Given the description of an element on the screen output the (x, y) to click on. 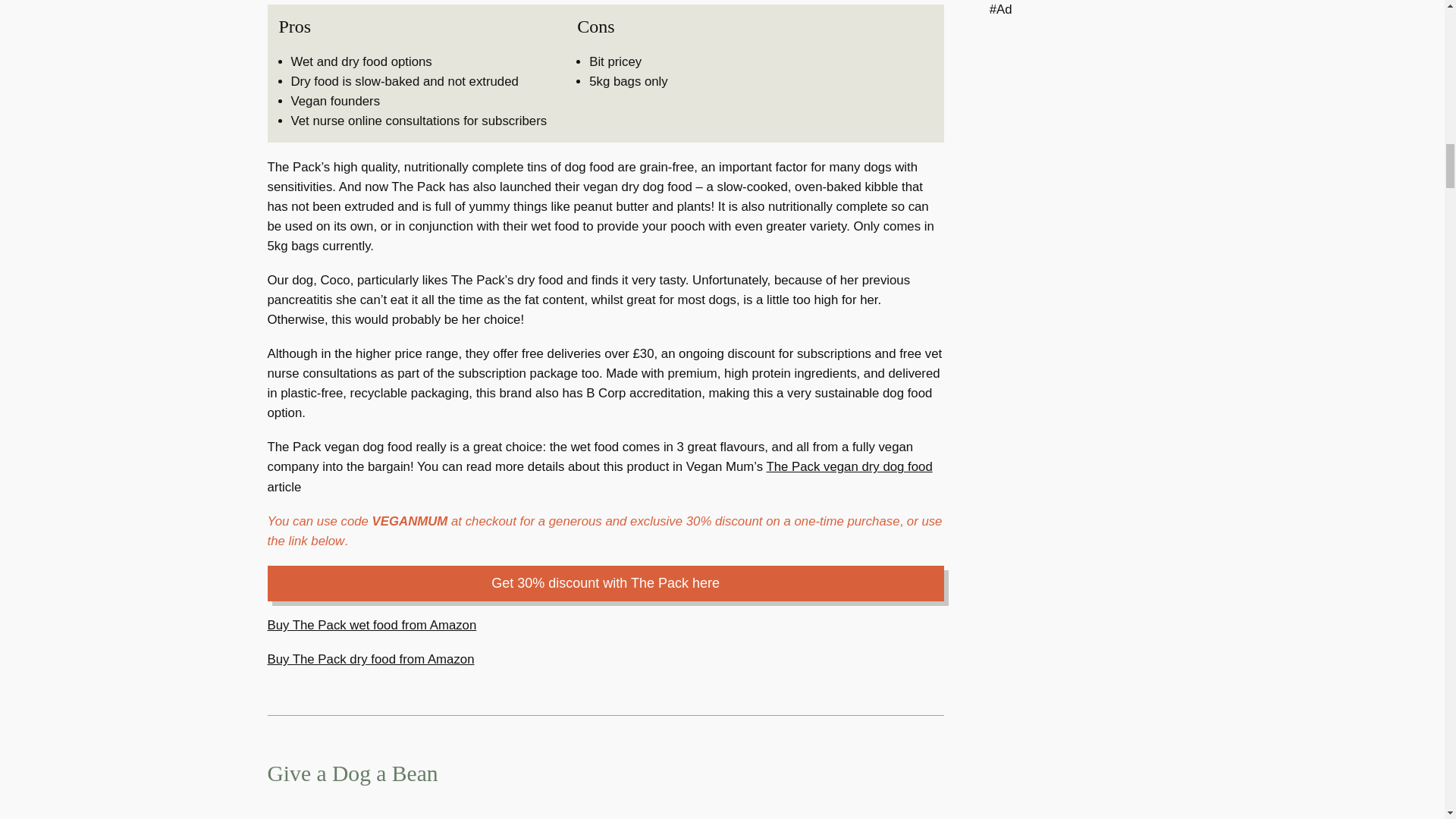
Buy The Pack wet food from Amazon (371, 625)
Buy The Pack dry food from Amazon (370, 658)
The Pack vegan dry dog food (848, 466)
